Given the description of an element on the screen output the (x, y) to click on. 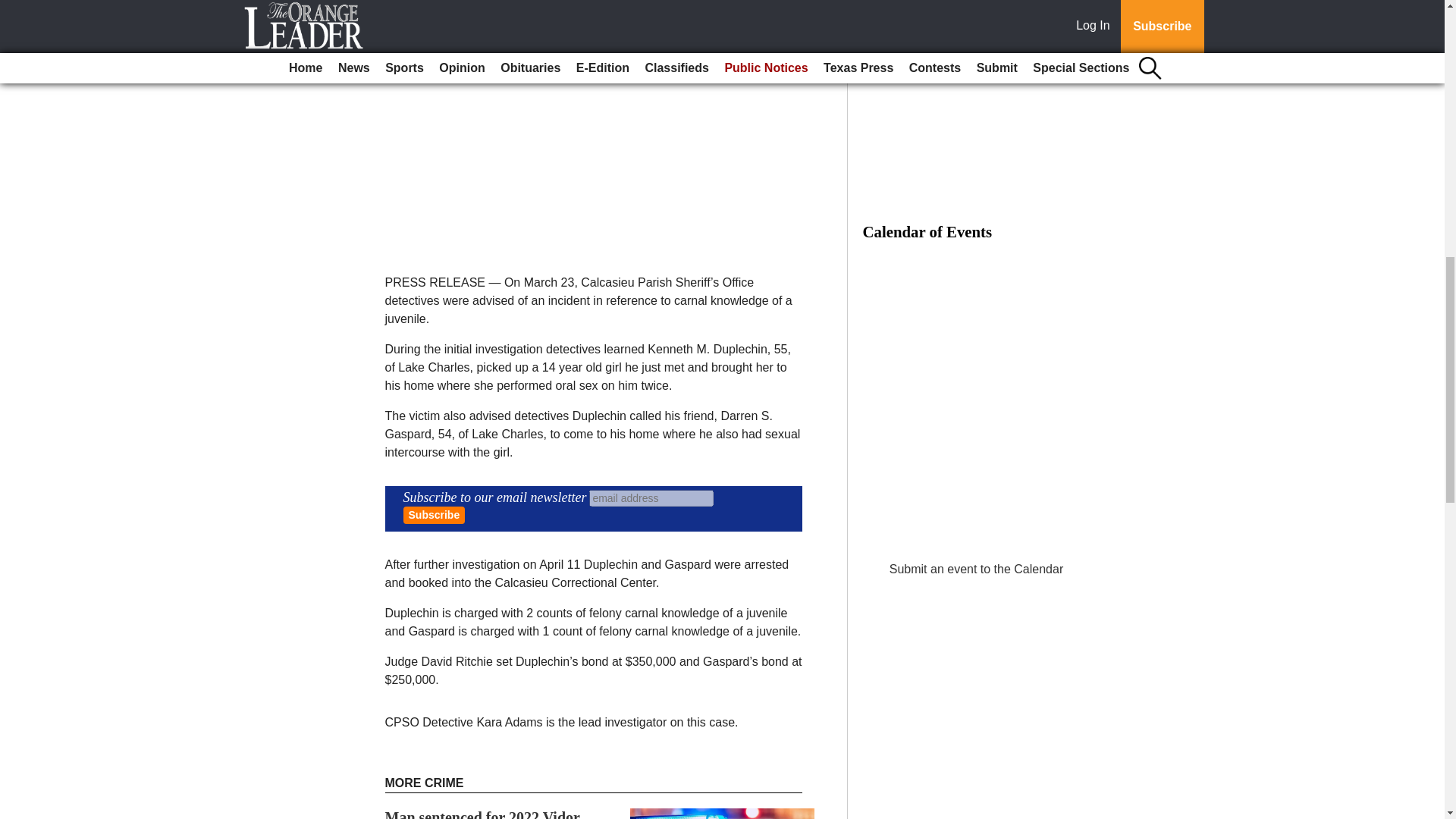
Man sentenced for 2022 Vidor carjacking (482, 814)
Subscribe (434, 515)
Man sentenced for 2022 Vidor carjacking (482, 814)
Subscribe (434, 515)
